Given the description of an element on the screen output the (x, y) to click on. 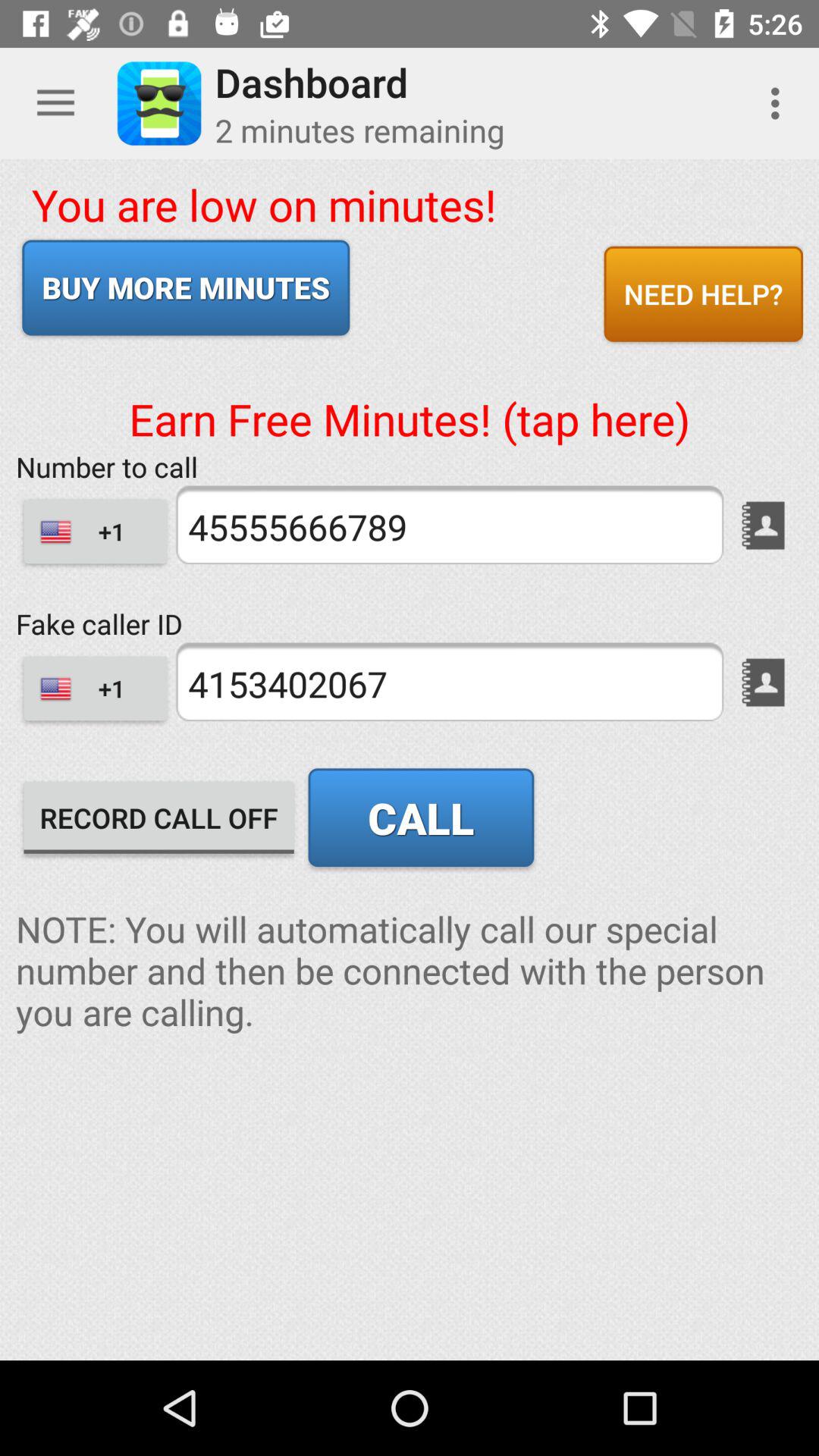
tap icon next to you are low item (703, 293)
